Given the description of an element on the screen output the (x, y) to click on. 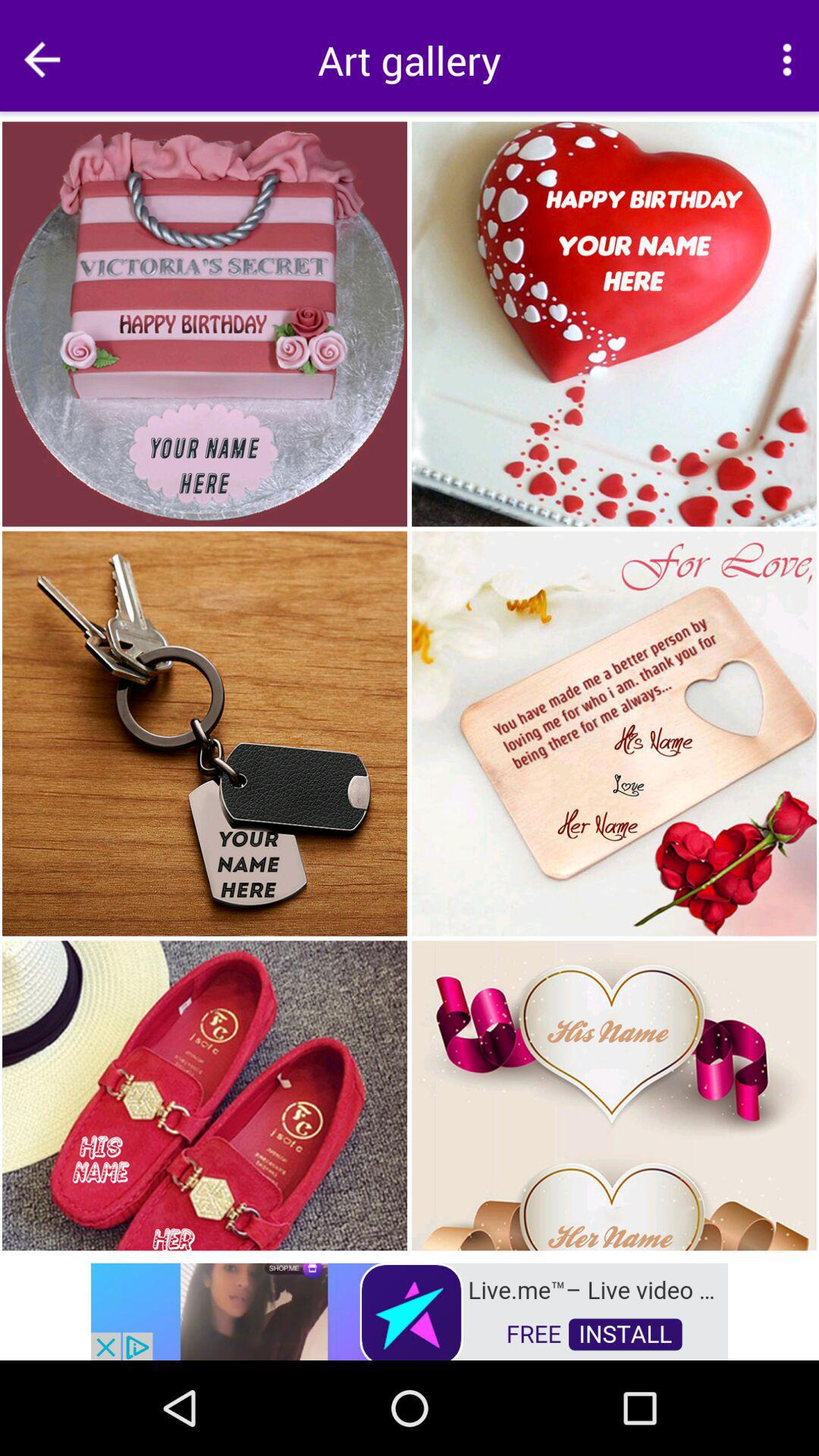
more option (787, 59)
